Given the description of an element on the screen output the (x, y) to click on. 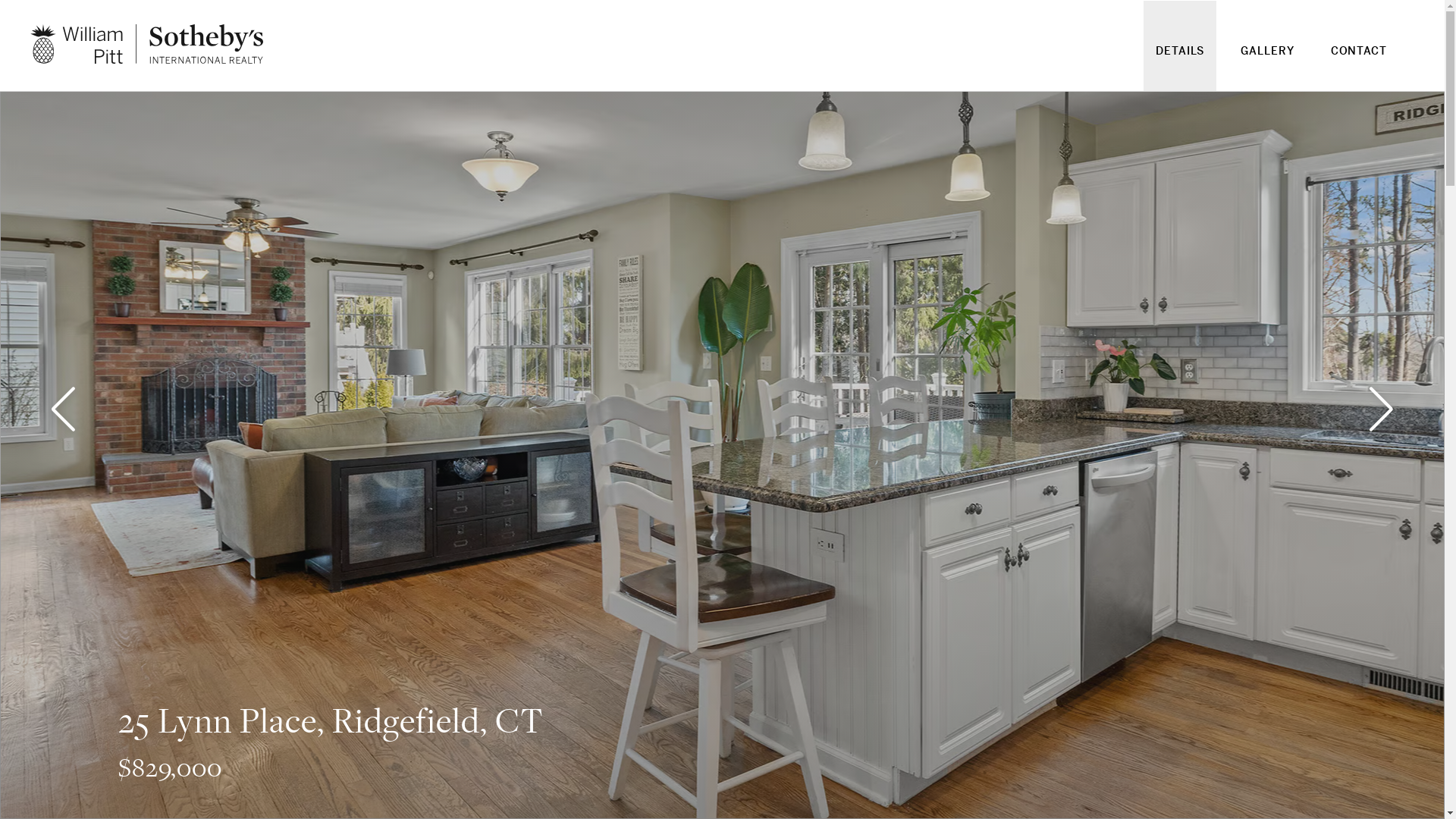
GALLERY Element type: text (1266, 60)
William Pitt SIR Element type: hover (146, 43)
DETAILS Element type: text (1179, 60)
CONTACT Element type: text (1358, 60)
